Given the description of an element on the screen output the (x, y) to click on. 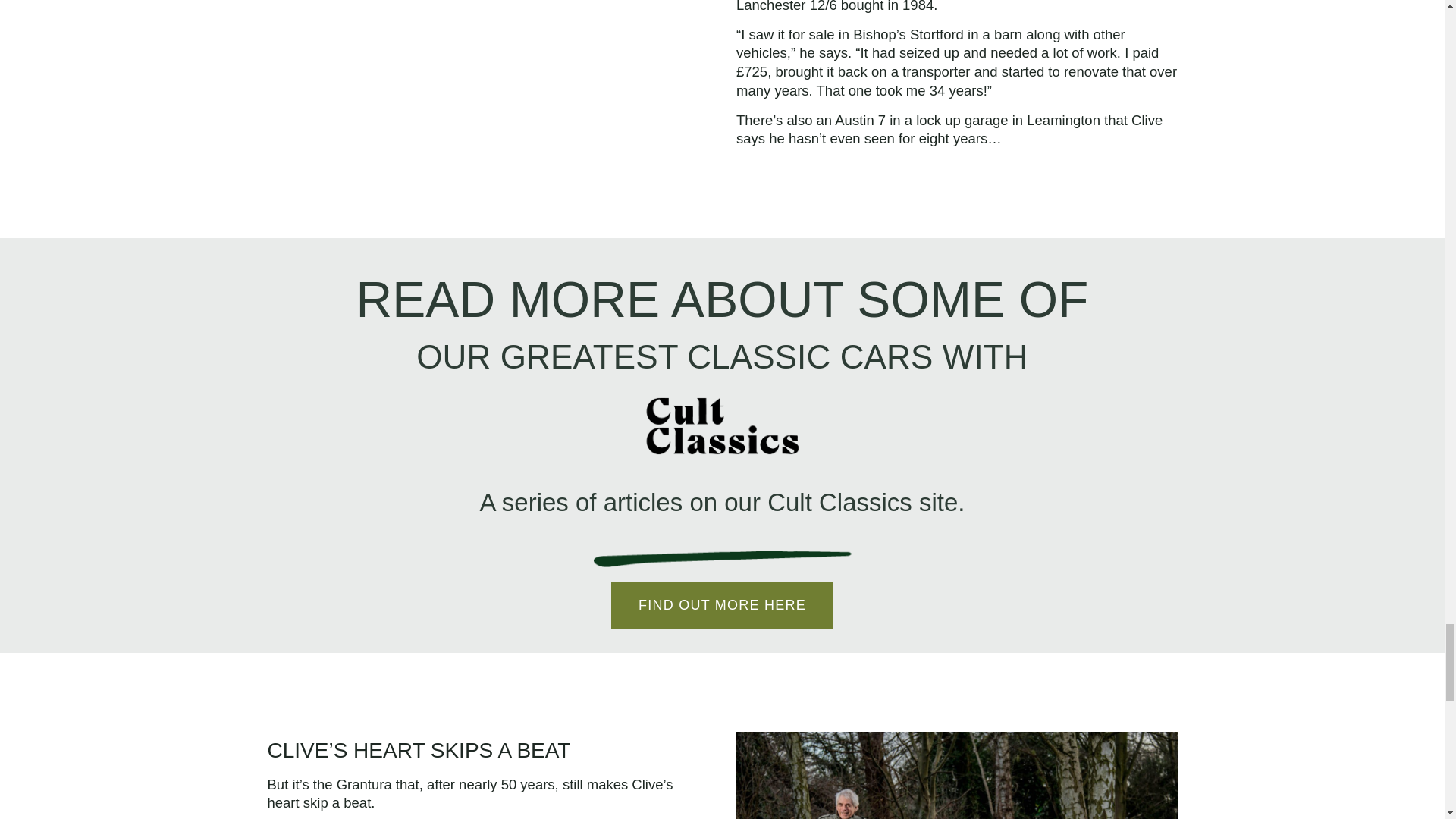
FIND OUT MORE HERE (721, 605)
